Given the description of an element on the screen output the (x, y) to click on. 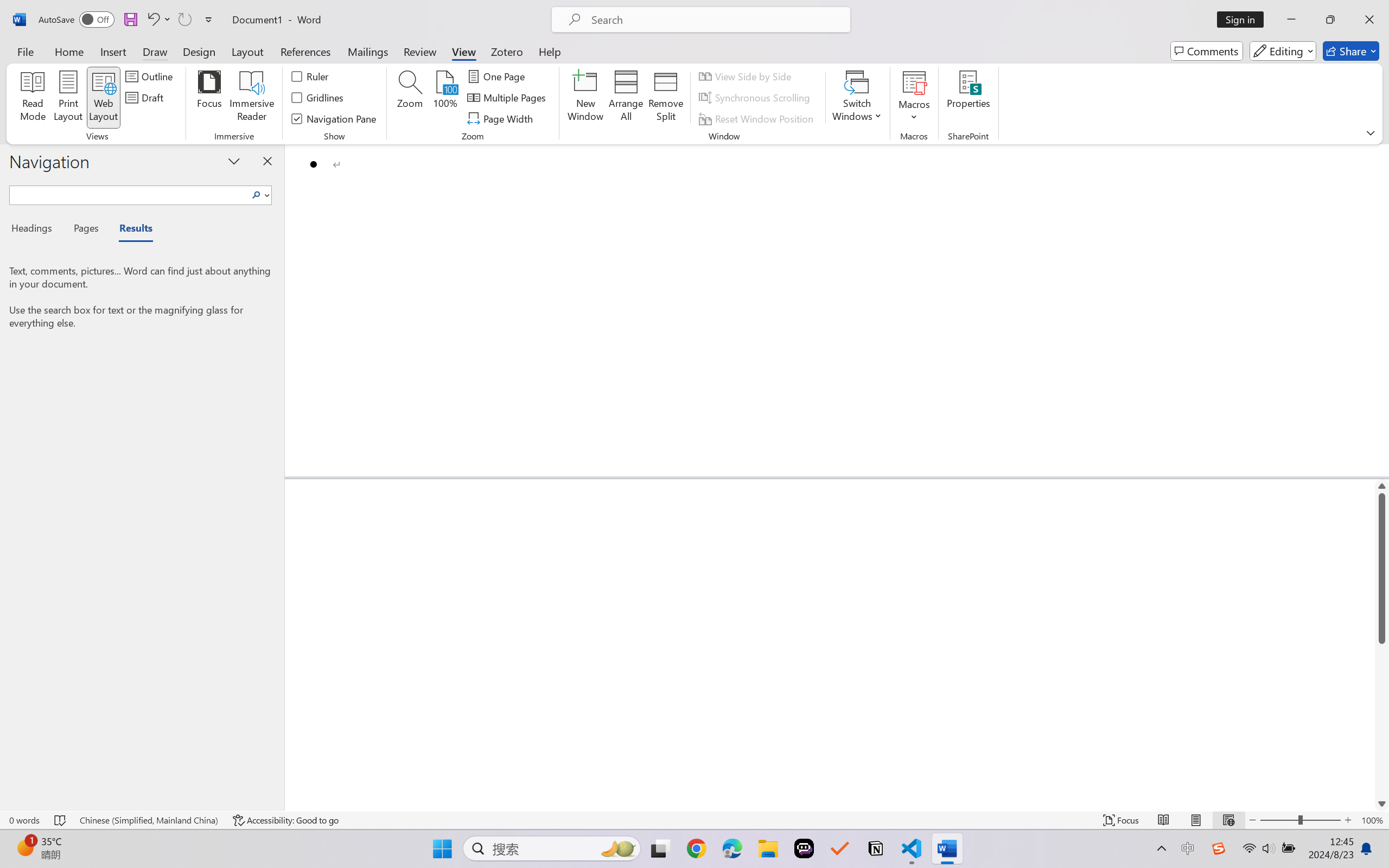
Search document (128, 193)
Zoom... (409, 97)
Remove Split (665, 97)
One Page (497, 75)
Can't Repeat (184, 19)
